Given the description of an element on the screen output the (x, y) to click on. 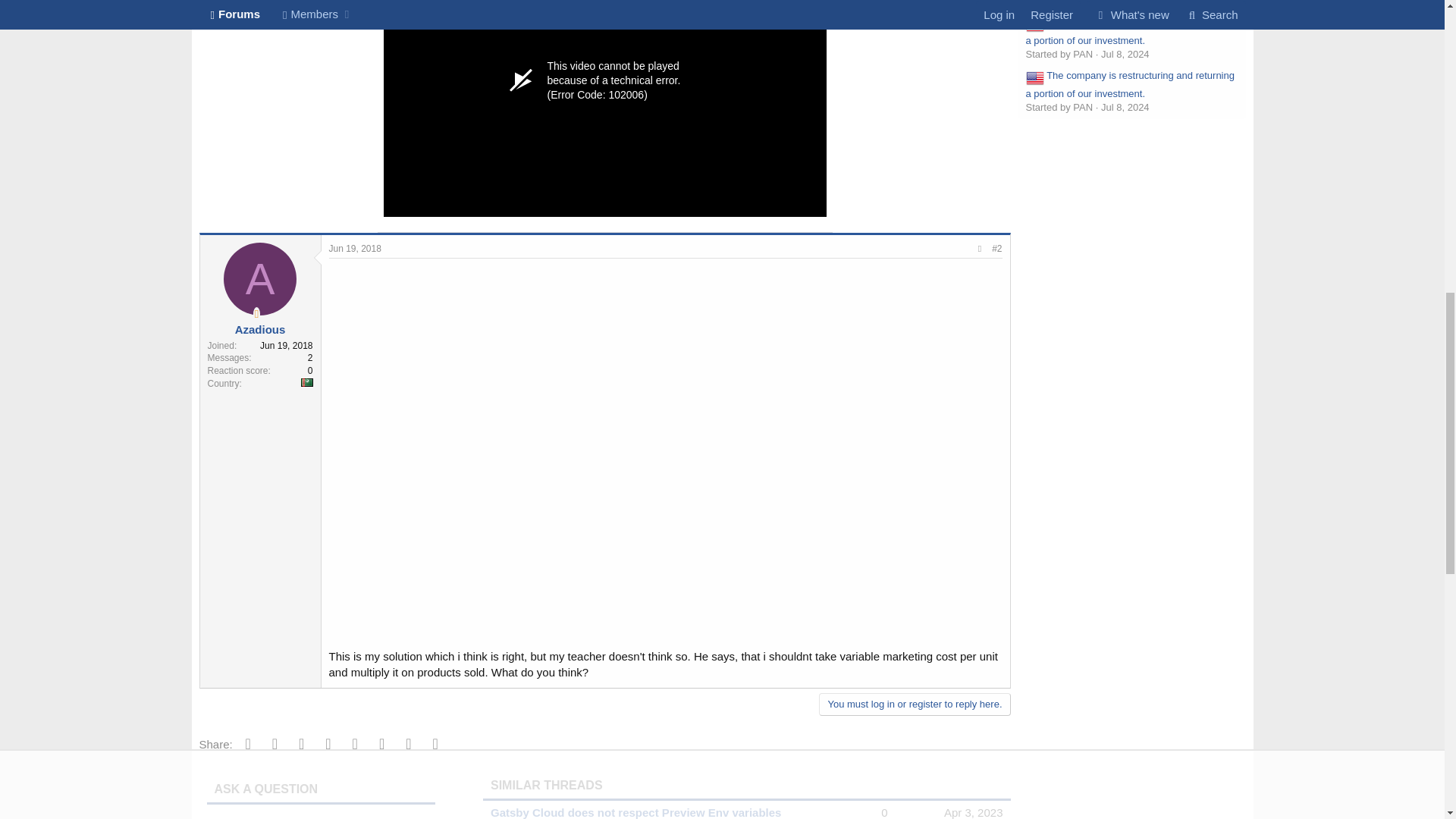
A (260, 278)
Reddit (301, 743)
Turkmenistan (306, 382)
Jun 19, 2018 at 9:46 AM (355, 248)
Apr 3, 2023 at 8:41 AM (973, 812)
Azadious (259, 328)
Jun 19, 2018 (355, 248)
Twitter (275, 743)
You must log in or register to reply here. (914, 703)
Facebook (248, 743)
